Given the description of an element on the screen output the (x, y) to click on. 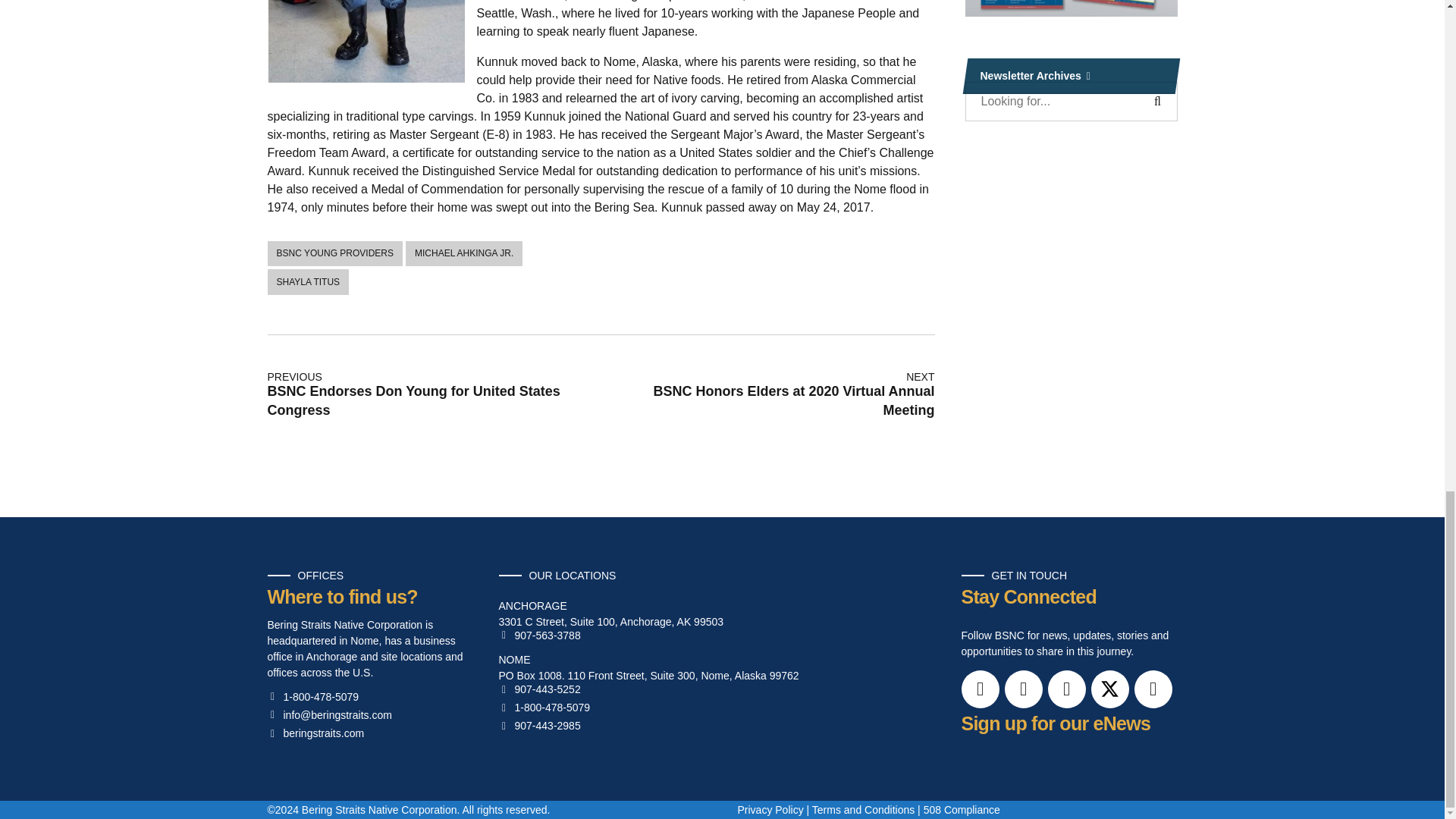
beringstraits.com (315, 733)
1-800-478-5079 (312, 696)
907-563-3788 (539, 635)
907-443-5252 (539, 689)
907-443-2985 (539, 726)
1-800-478-5079 (545, 707)
Sign up for our eNews (1055, 722)
Newsletter Archives (1069, 76)
